Given the description of an element on the screen output the (x, y) to click on. 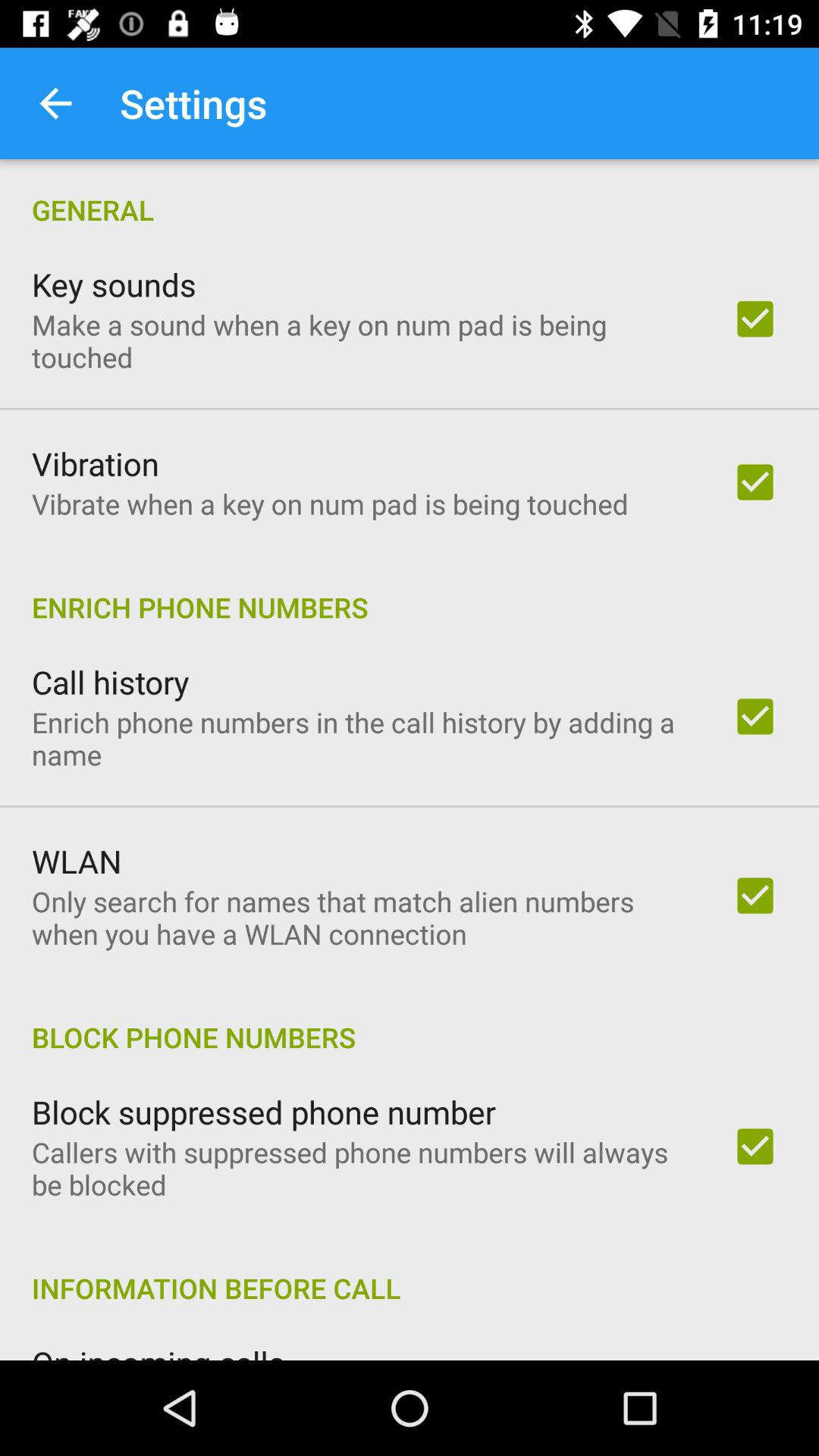
swipe until general item (409, 193)
